Given the description of an element on the screen output the (x, y) to click on. 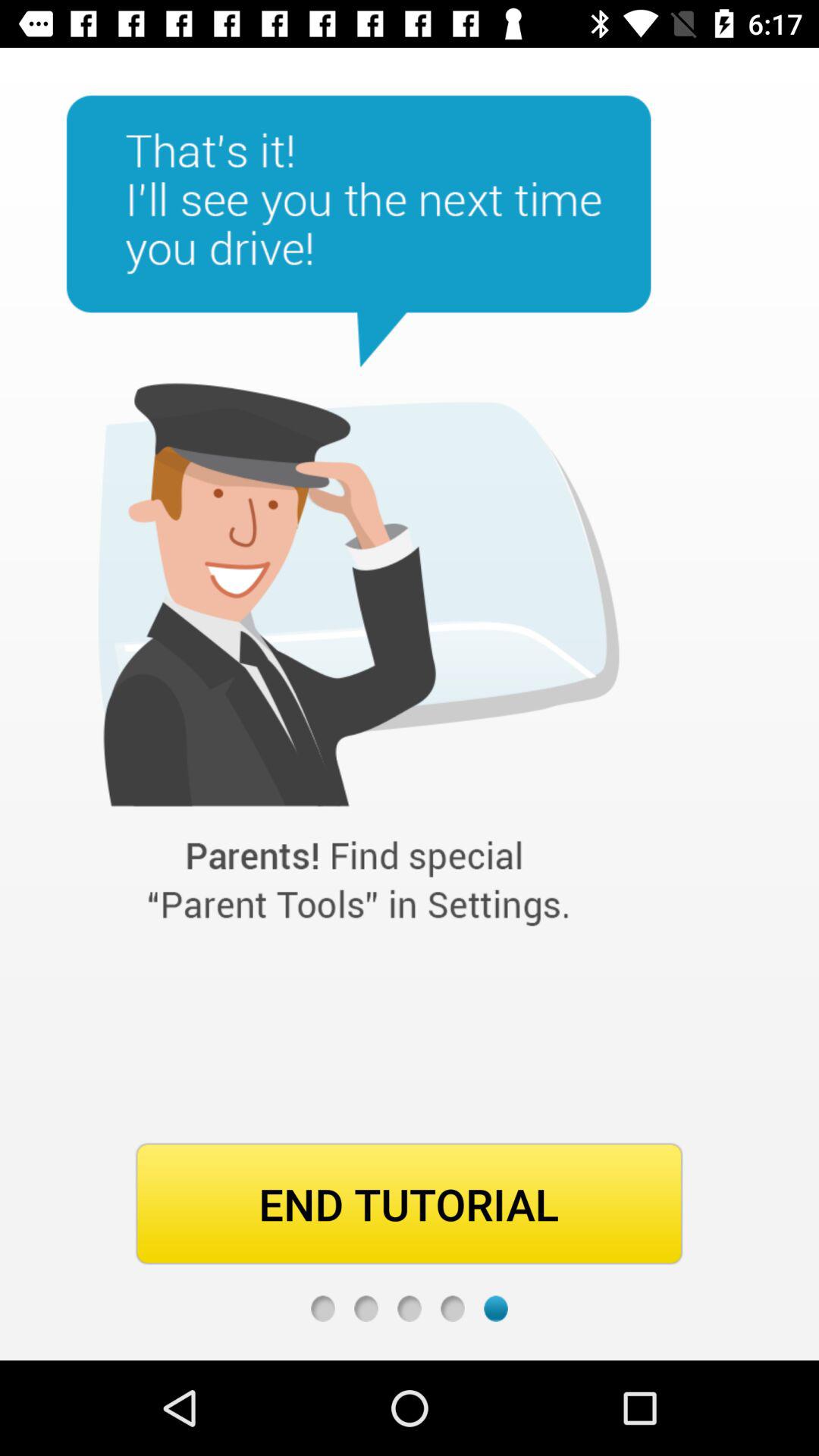
page 4 of tutorial (452, 1308)
